Given the description of an element on the screen output the (x, y) to click on. 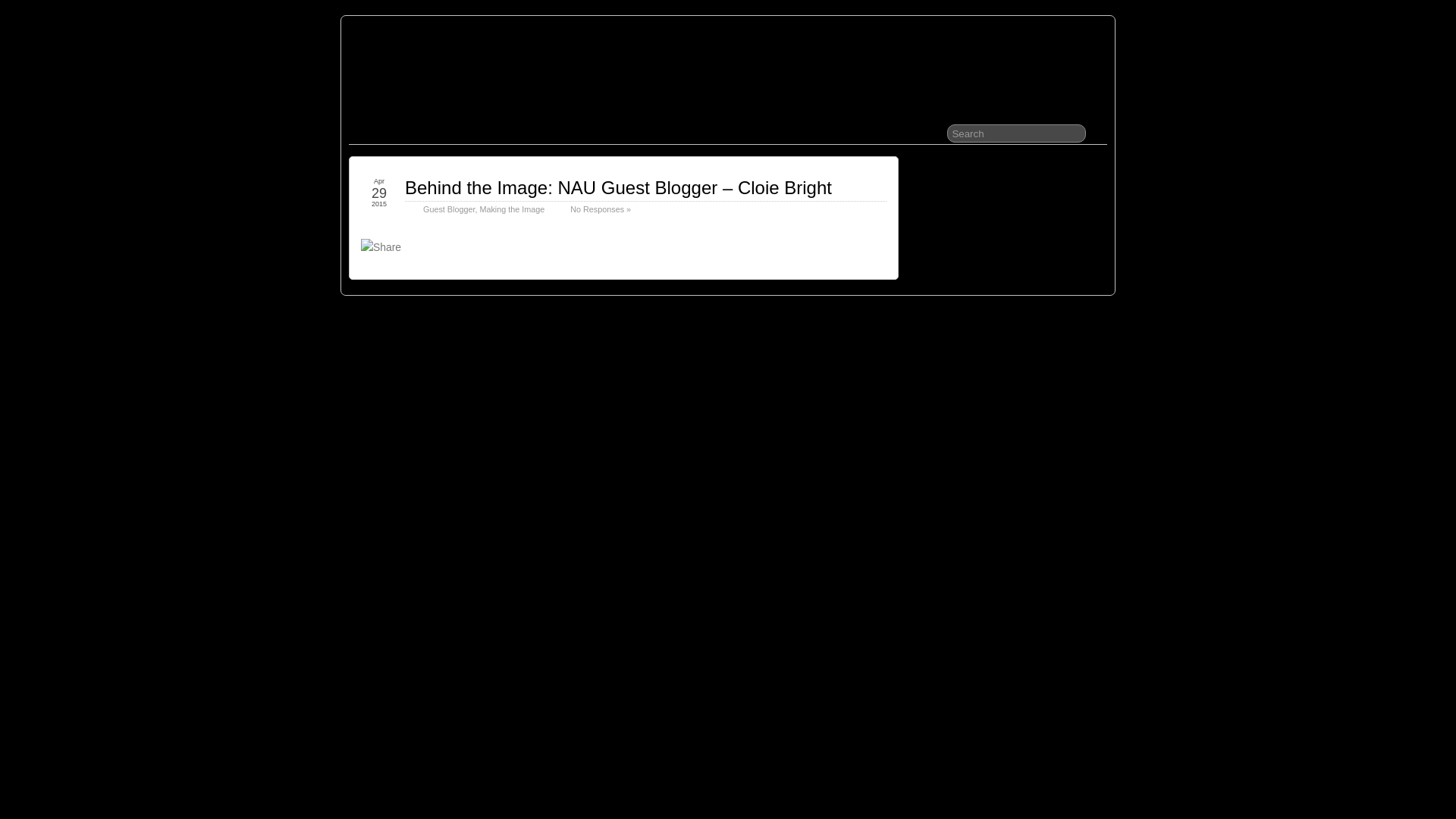
Search (1016, 133)
Search (1016, 133)
Guest Blogger (448, 208)
Making the Image (511, 208)
